Given the description of an element on the screen output the (x, y) to click on. 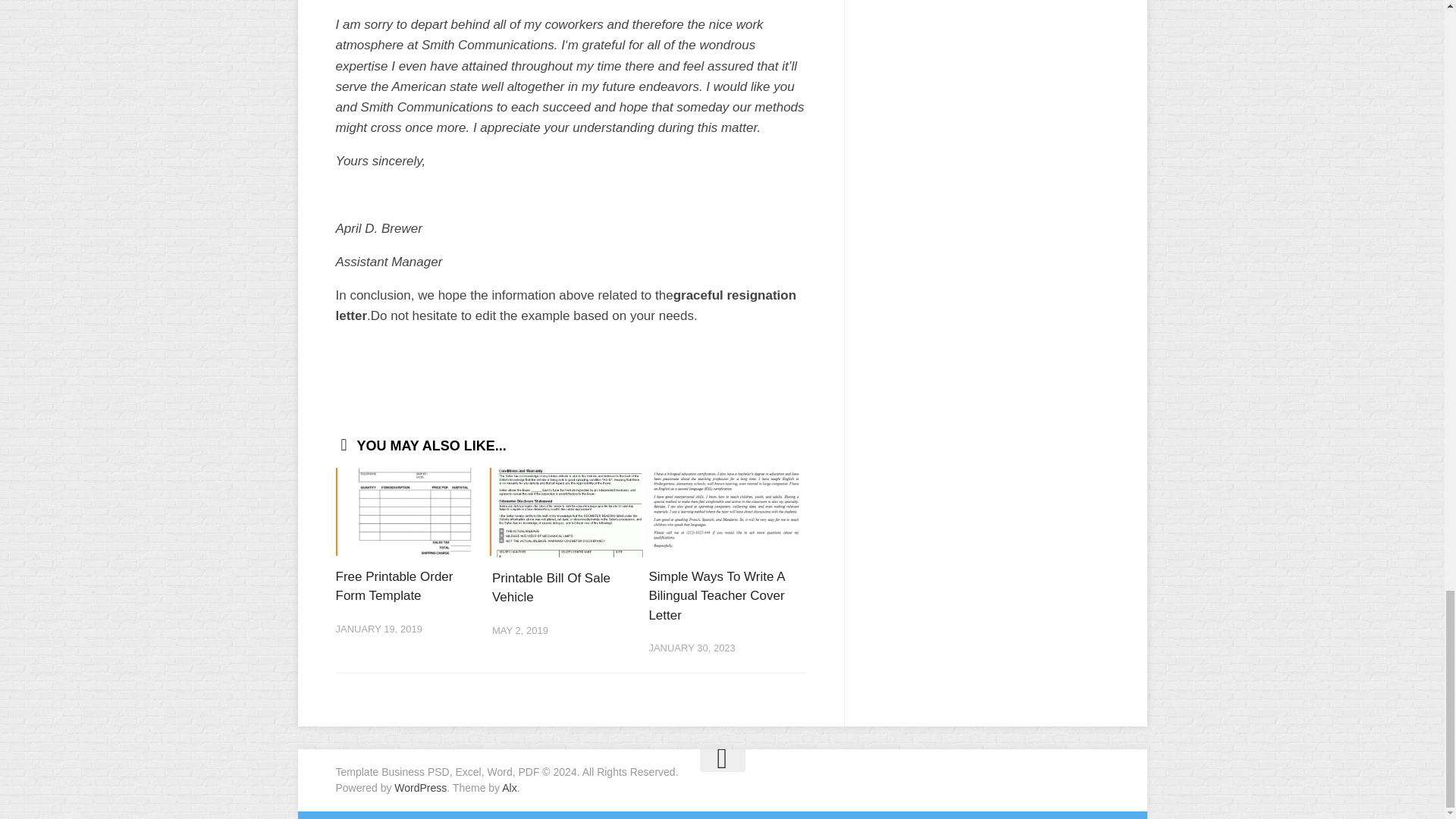
Printable Bill Of Sale Vehicle (551, 587)
Simple Ways To Write A Bilingual Teacher Cover Letter (715, 595)
Free Printable Order Form Template (393, 586)
